Given the description of an element on the screen output the (x, y) to click on. 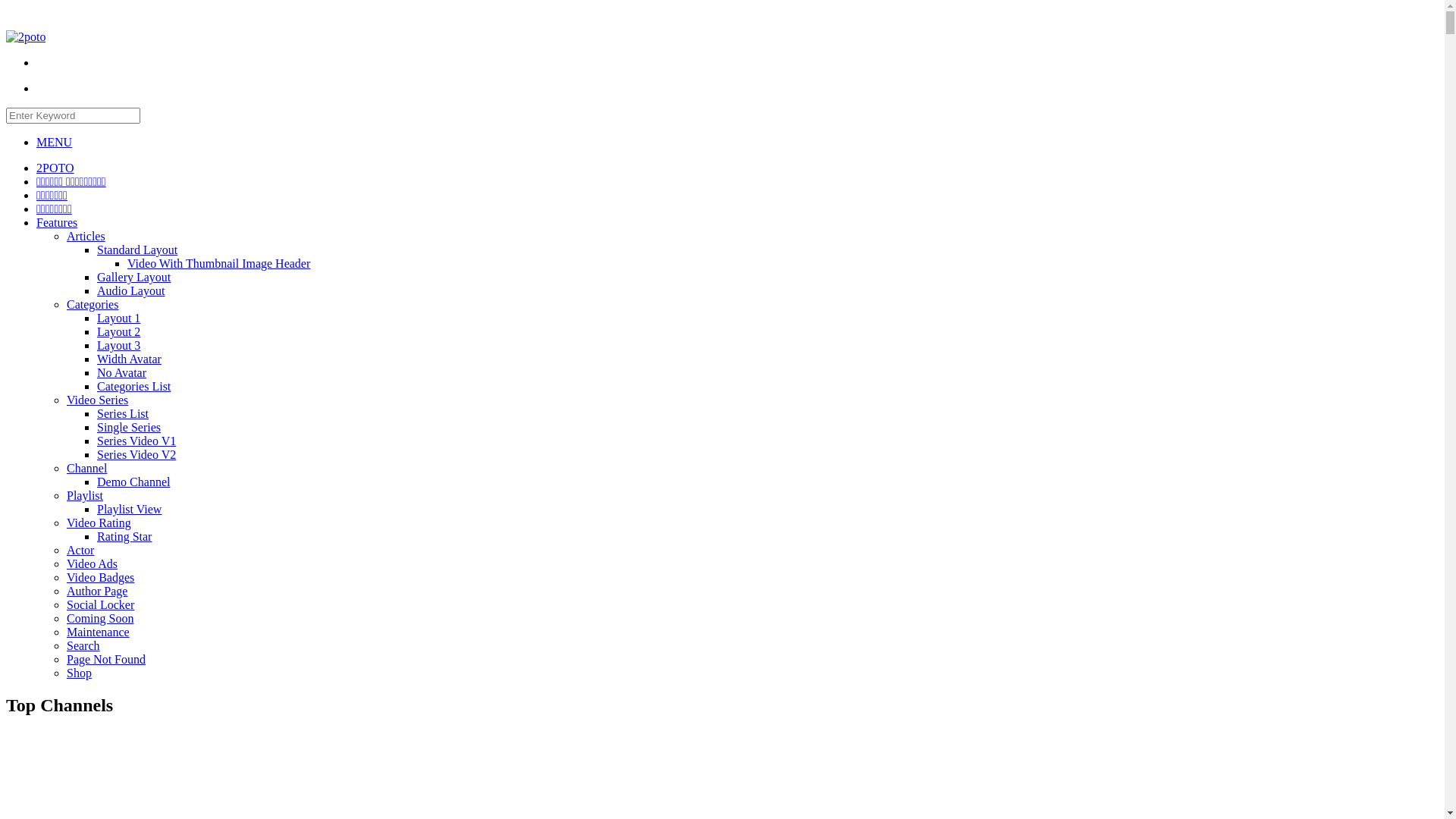
Social Locker Element type: text (100, 604)
Categories Element type: text (92, 304)
Features Element type: text (56, 222)
Layout 2 Element type: text (118, 331)
Articles Element type: text (85, 235)
Search Element type: text (83, 645)
Channel Element type: text (86, 467)
Series Video V2 Element type: text (136, 454)
Width Avatar Element type: text (129, 358)
Single Series Element type: text (128, 426)
Rating Star Element type: text (124, 536)
Video Rating Element type: text (98, 522)
No Avatar Element type: text (121, 372)
Playlist Element type: text (84, 495)
Video With Thumbnail Image Header Element type: text (218, 263)
Shop Element type: text (78, 672)
Standard Layout Element type: text (137, 249)
Video Series Element type: text (97, 399)
Audio Layout Element type: text (130, 290)
Maintenance Element type: text (97, 631)
Layout 1 Element type: text (118, 317)
Series List Element type: text (122, 413)
Categories List Element type: text (133, 385)
Video Badges Element type: text (100, 577)
Series Video V1 Element type: text (136, 440)
Gallery Layout Element type: text (133, 276)
Layout 3 Element type: text (118, 344)
MENU Element type: text (54, 141)
2POTO Element type: text (55, 167)
Playlist View Element type: text (129, 508)
Demo Channel Element type: text (133, 481)
Actor Element type: text (80, 549)
Author Page Element type: text (96, 590)
Page Not Found Element type: text (105, 658)
Video Ads Element type: text (91, 563)
Coming Soon Element type: text (99, 617)
2poto Element type: hover (25, 36)
